Given the description of an element on the screen output the (x, y) to click on. 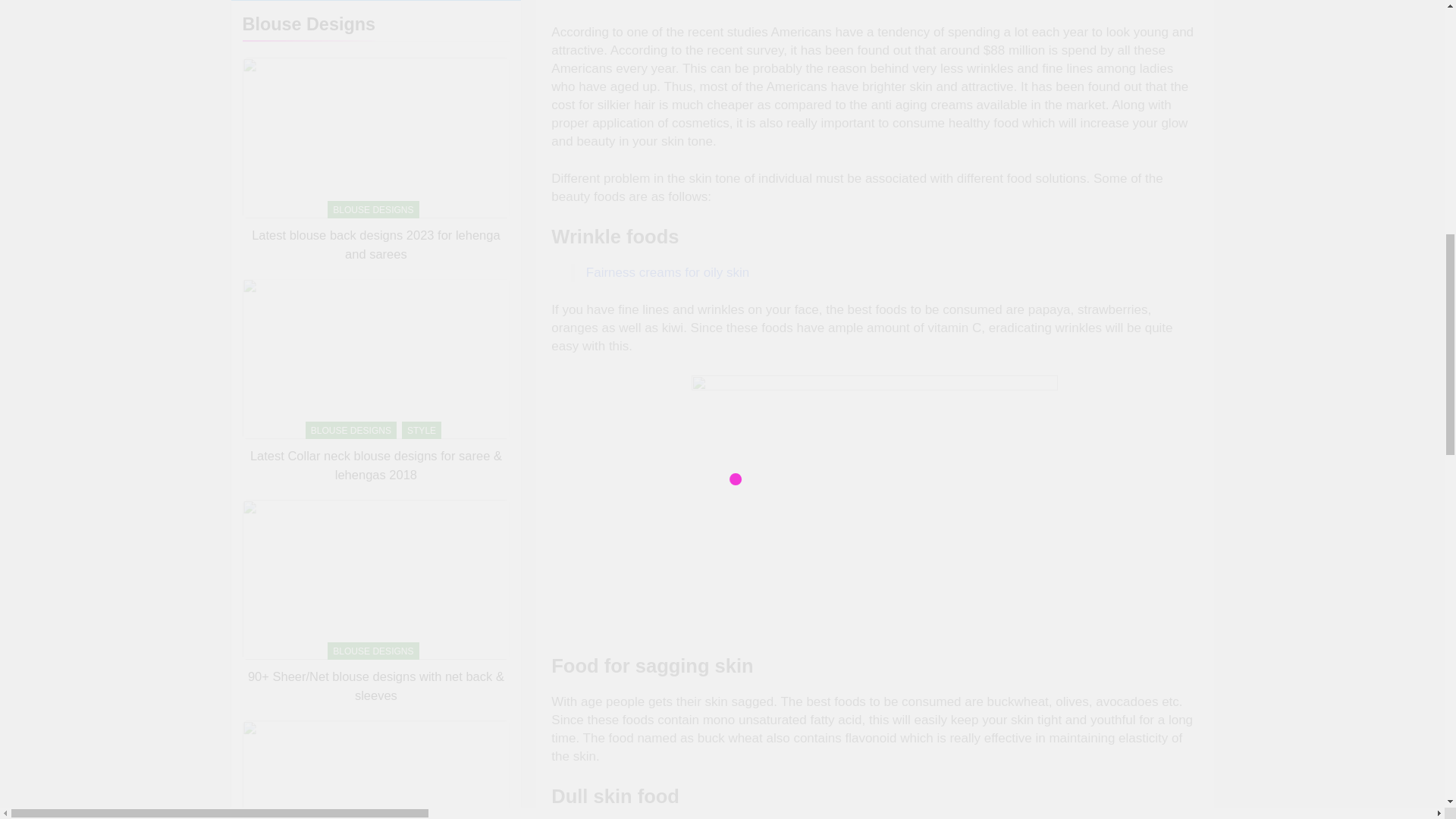
BLOUSE DESIGNS (373, 320)
Latest maggam work blouse designs catalog (375, 345)
Fairness creams for oily skin (667, 272)
BLOUSE DESIGNS (373, 99)
